Given the description of an element on the screen output the (x, y) to click on. 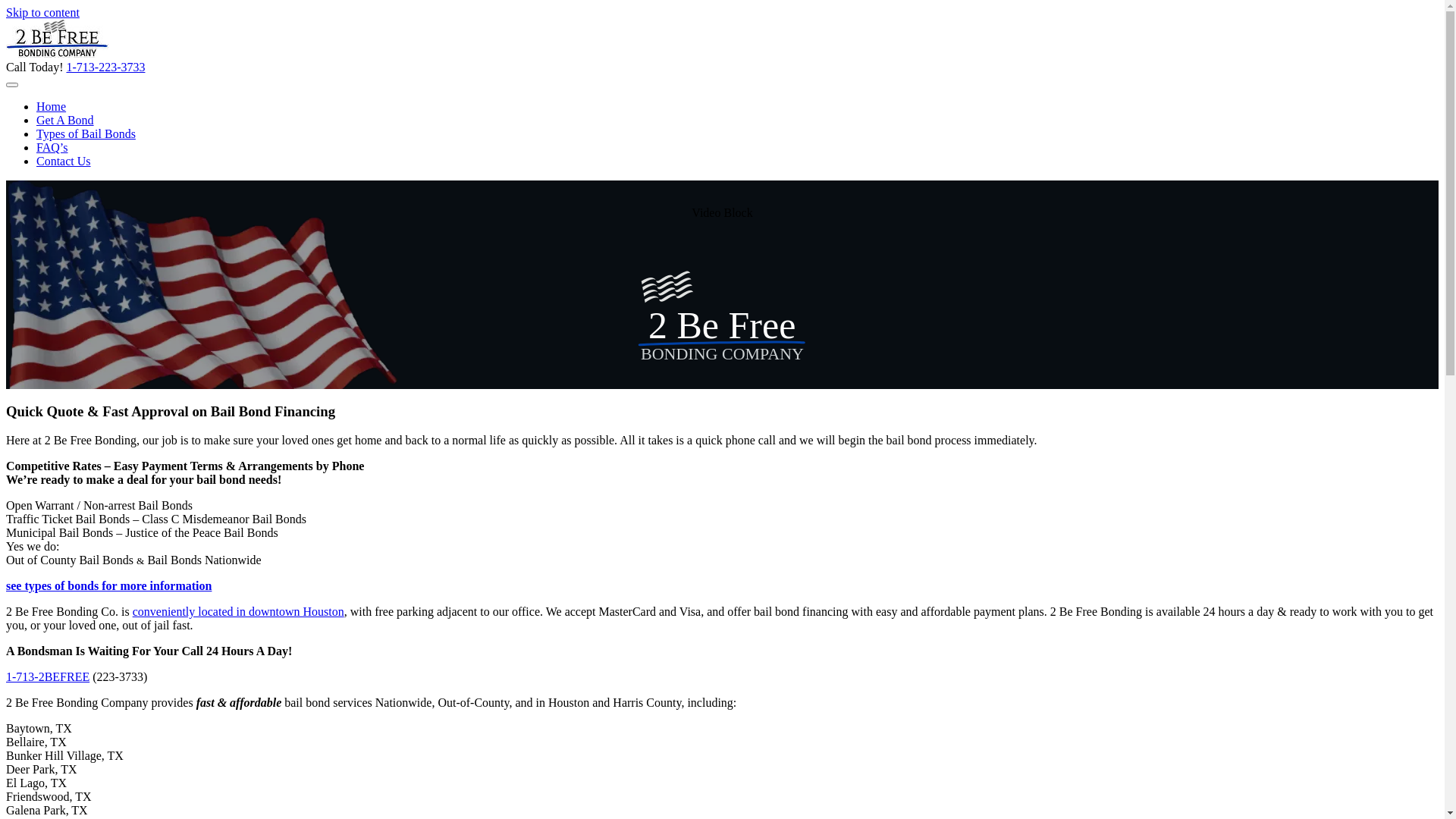
Types of Bail Bonds Element type: text (85, 133)
Home Element type: text (50, 106)
conveniently located in downtown Houston Element type: text (238, 611)
Contact Us Element type: text (63, 160)
see types of bonds for more information Element type: text (108, 585)
1-713-2BEFREE Element type: text (47, 676)
Skip to content Element type: text (42, 12)
Get A Bond Element type: text (65, 119)
1-713-223-3733 Element type: text (104, 66)
2 Be Free Element type: text (721, 325)
